Given the description of an element on the screen output the (x, y) to click on. 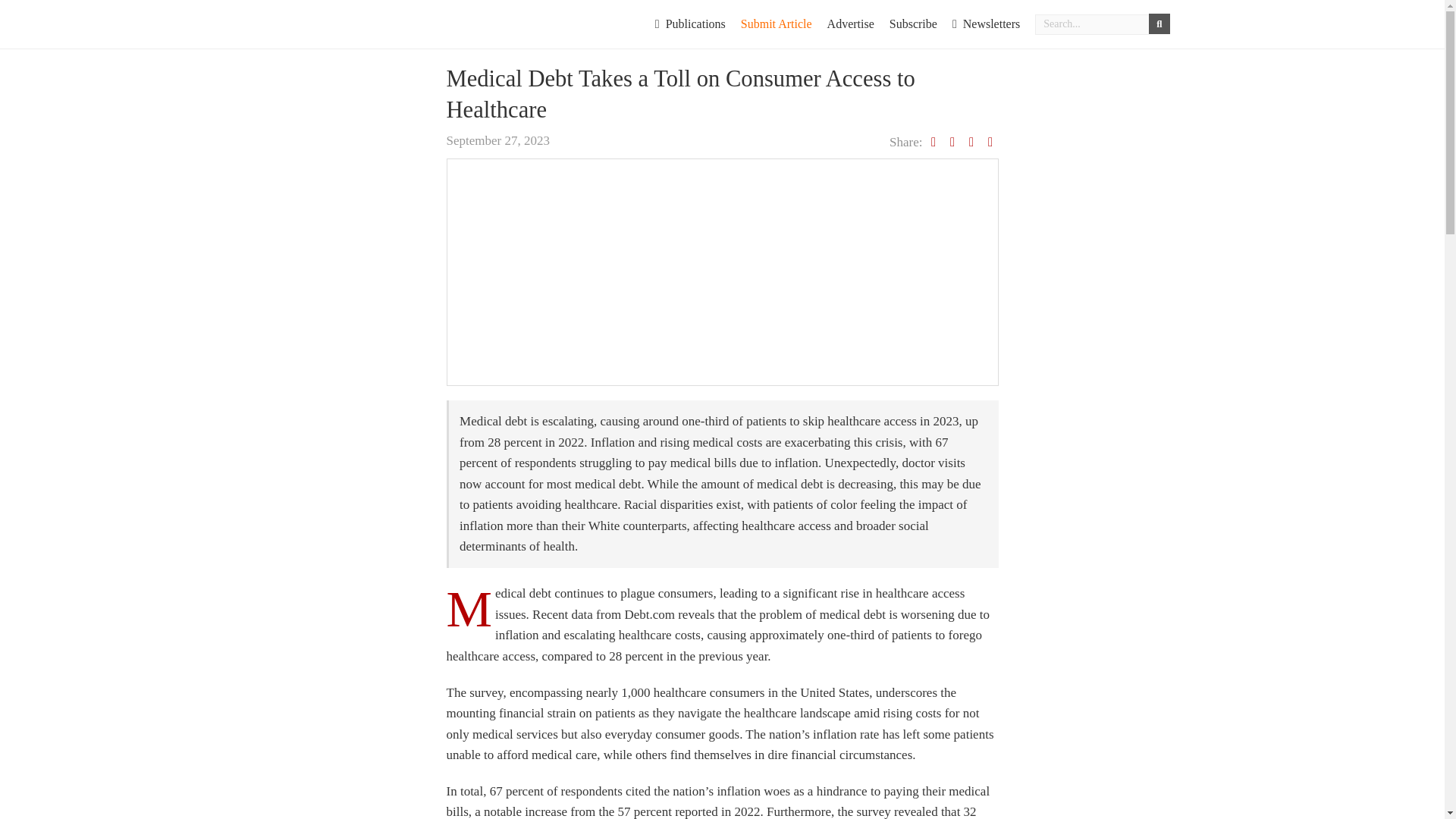
Advertise (850, 24)
Newsletters (985, 24)
Publications (690, 24)
Submit Article (776, 24)
Subscribe (913, 24)
Newsletters Archive (985, 24)
DistilINFO GovHealth Advisory (384, 21)
